Given the description of an element on the screen output the (x, y) to click on. 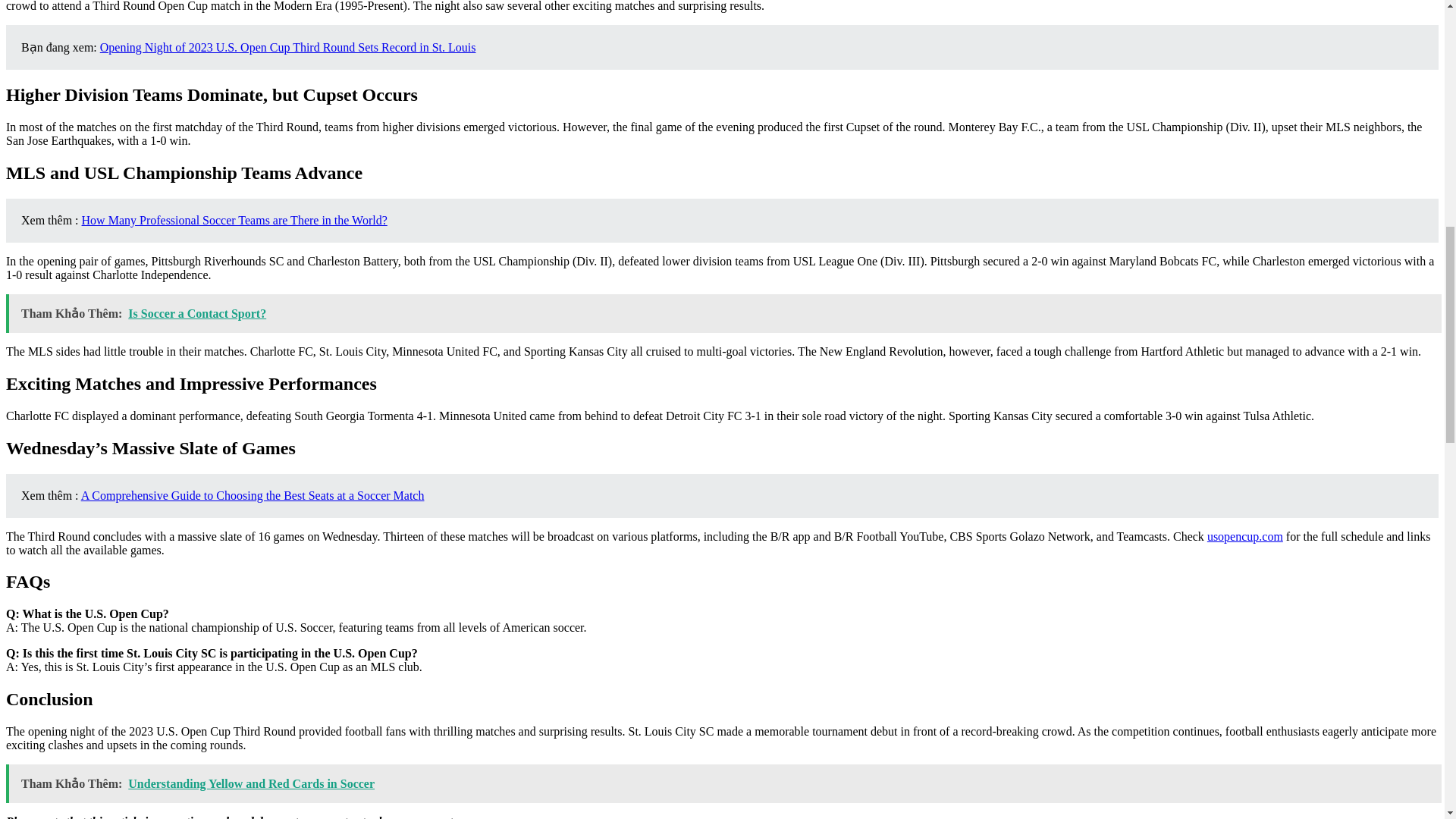
How Many Professional Soccer Teams are There in the World? (234, 219)
usopencup.com (1244, 535)
